Given the description of an element on the screen output the (x, y) to click on. 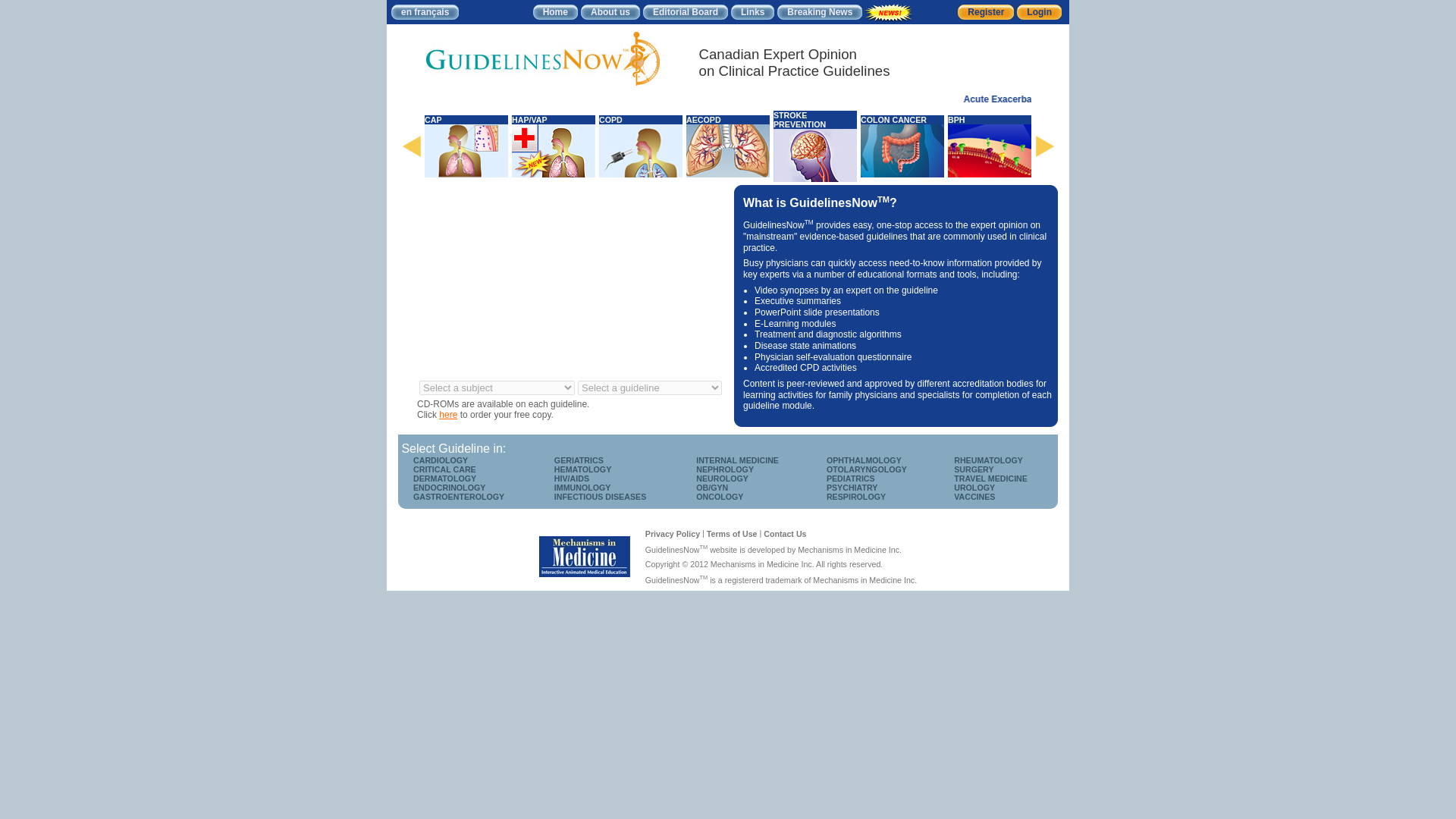
CAP (466, 119)
STROKE PREVENTION (815, 119)
Acute Exacerbations of Chronic Obstructive Pulmonary Disease (1184, 99)
INTERNAL MEDICINE (736, 460)
Register (986, 11)
COLON CANCER (901, 119)
GERIATRICS (579, 460)
Login (1038, 11)
NEUROLOGY (721, 478)
AECOPD (727, 119)
Editorial Board (684, 11)
COPD (640, 119)
Breaking News (819, 11)
RHEUMATOLOGY (988, 460)
HEMATOLOGY (582, 469)
